Given the description of an element on the screen output the (x, y) to click on. 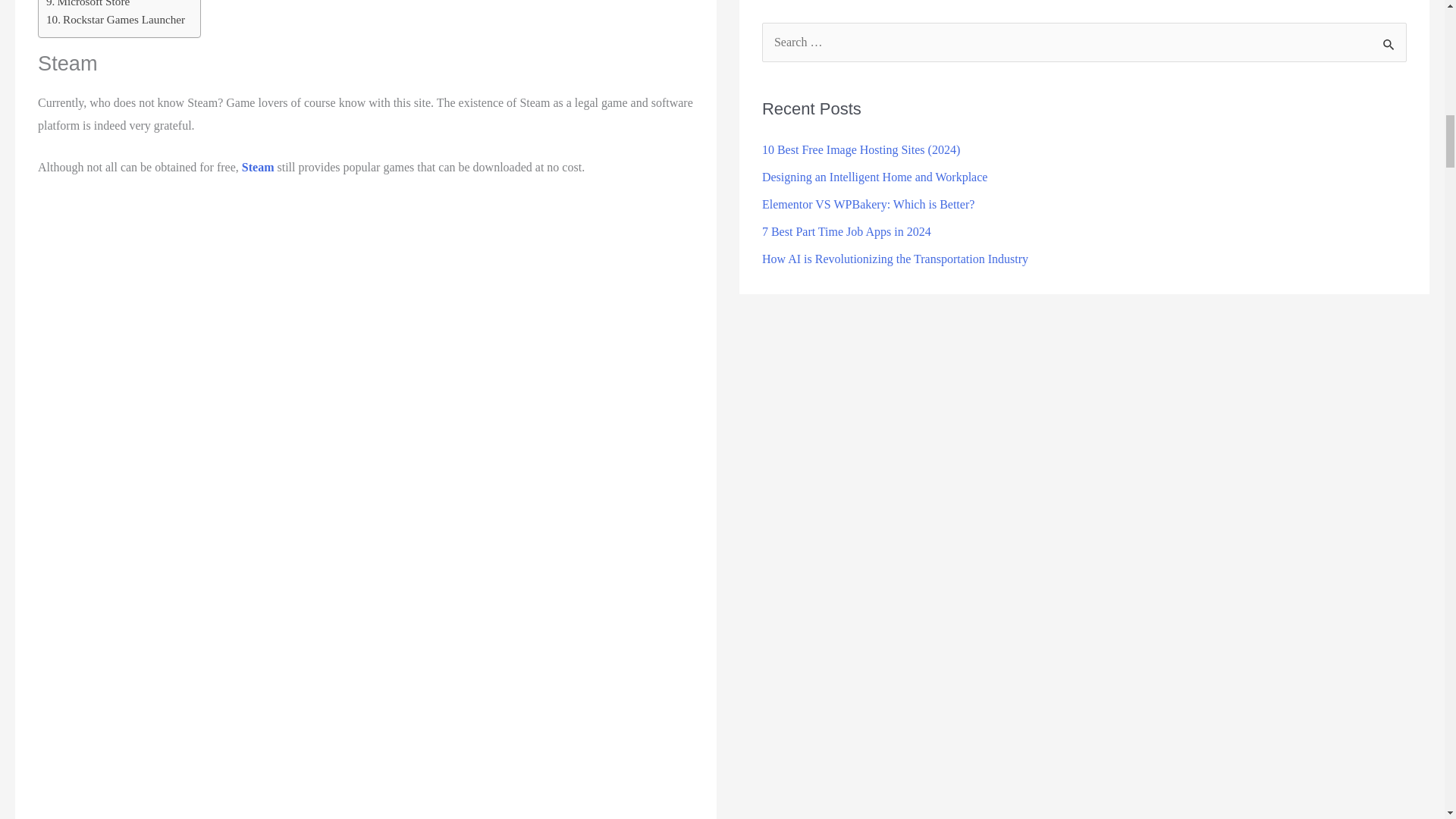
Rockstar Games Launcher (115, 19)
Microsoft Store (87, 5)
